Given the description of an element on the screen output the (x, y) to click on. 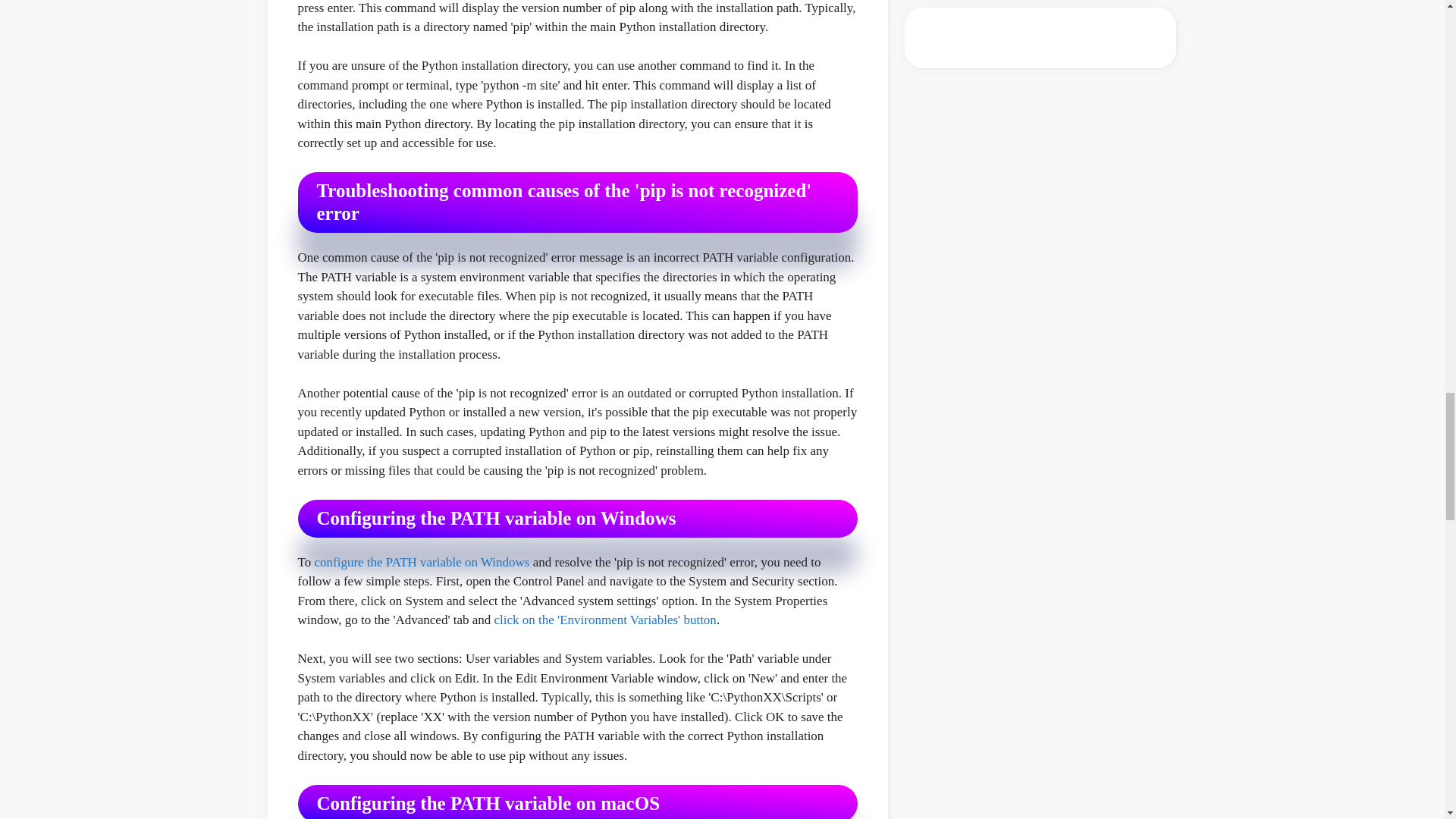
click on the 'Environment Variables' button (605, 619)
configure the PATH variable on Windows (421, 562)
